Given the description of an element on the screen output the (x, y) to click on. 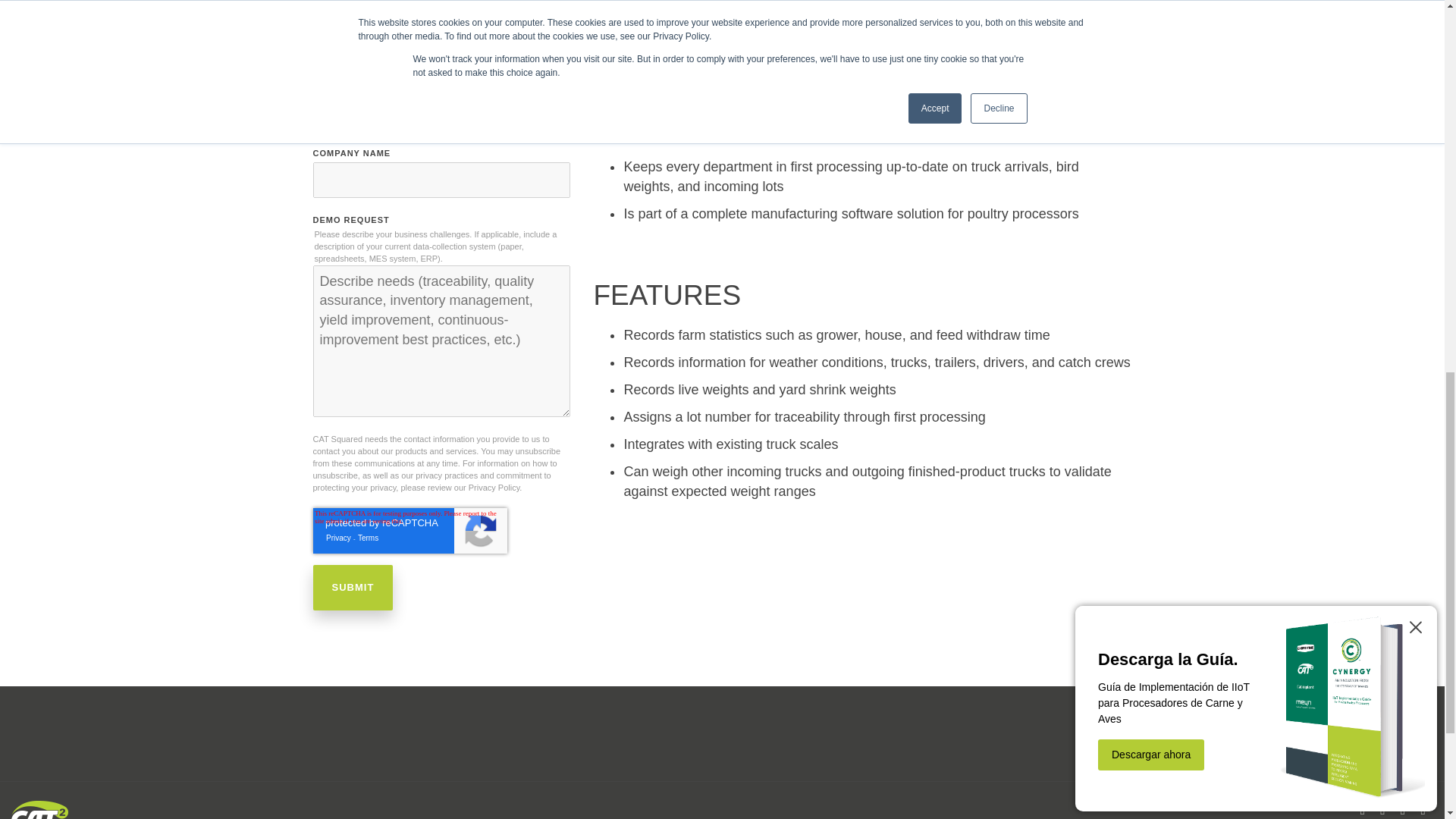
Submit (353, 587)
logo-web-footer (39, 809)
reCAPTCHA (409, 530)
